Given the description of an element on the screen output the (x, y) to click on. 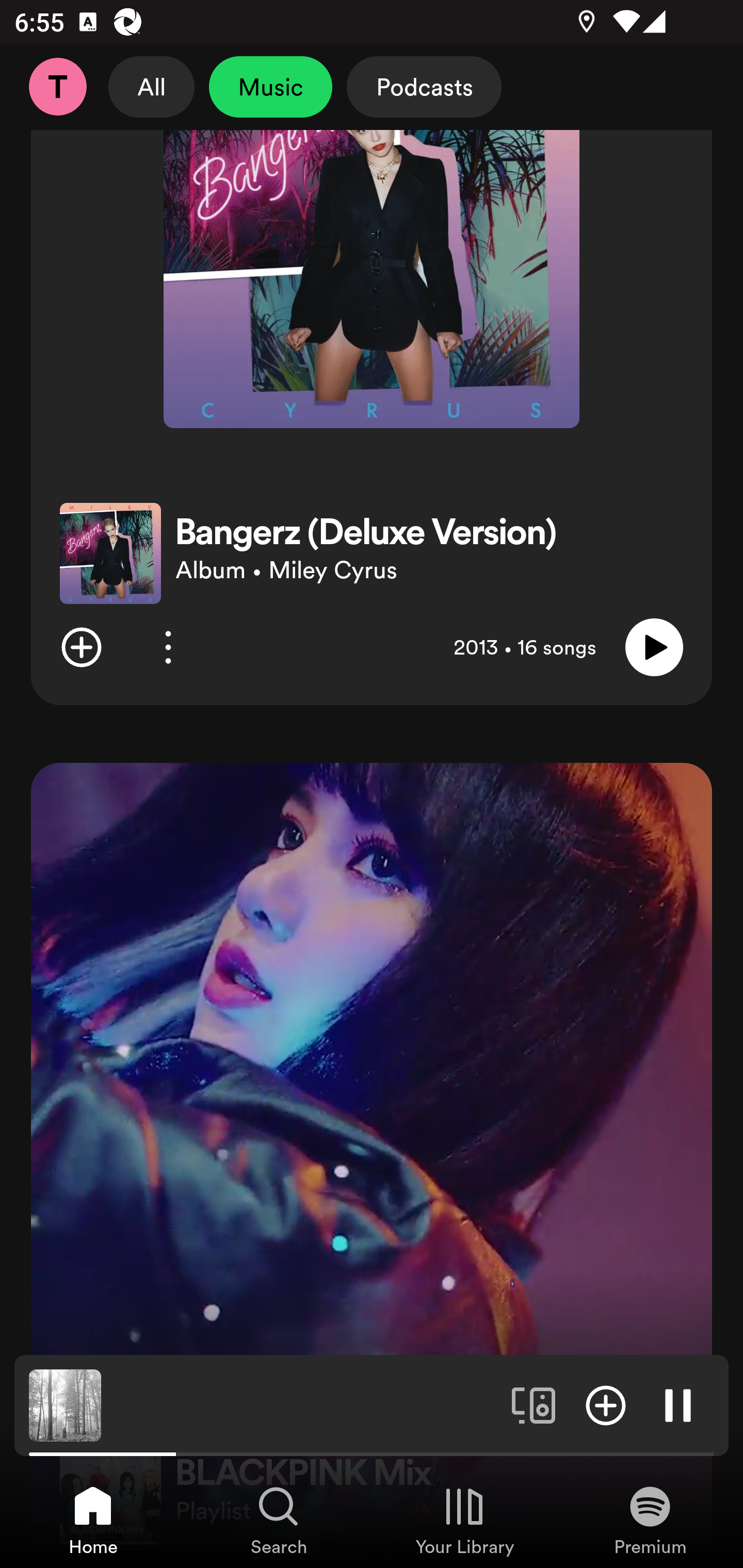
Profile (57, 86)
All Select All (151, 86)
Music Unselect Music (270, 86)
Podcasts Select Podcasts (423, 86)
Add item (80, 646)
Play (653, 646)
The cover art of the currently playing track (64, 1404)
Connect to a device. Opens the devices menu (533, 1404)
Add item (605, 1404)
Pause (677, 1404)
Home, Tab 1 of 4 Home Home (92, 1519)
Search, Tab 2 of 4 Search Search (278, 1519)
Your Library, Tab 3 of 4 Your Library Your Library (464, 1519)
Premium, Tab 4 of 4 Premium Premium (650, 1519)
